Given the description of an element on the screen output the (x, y) to click on. 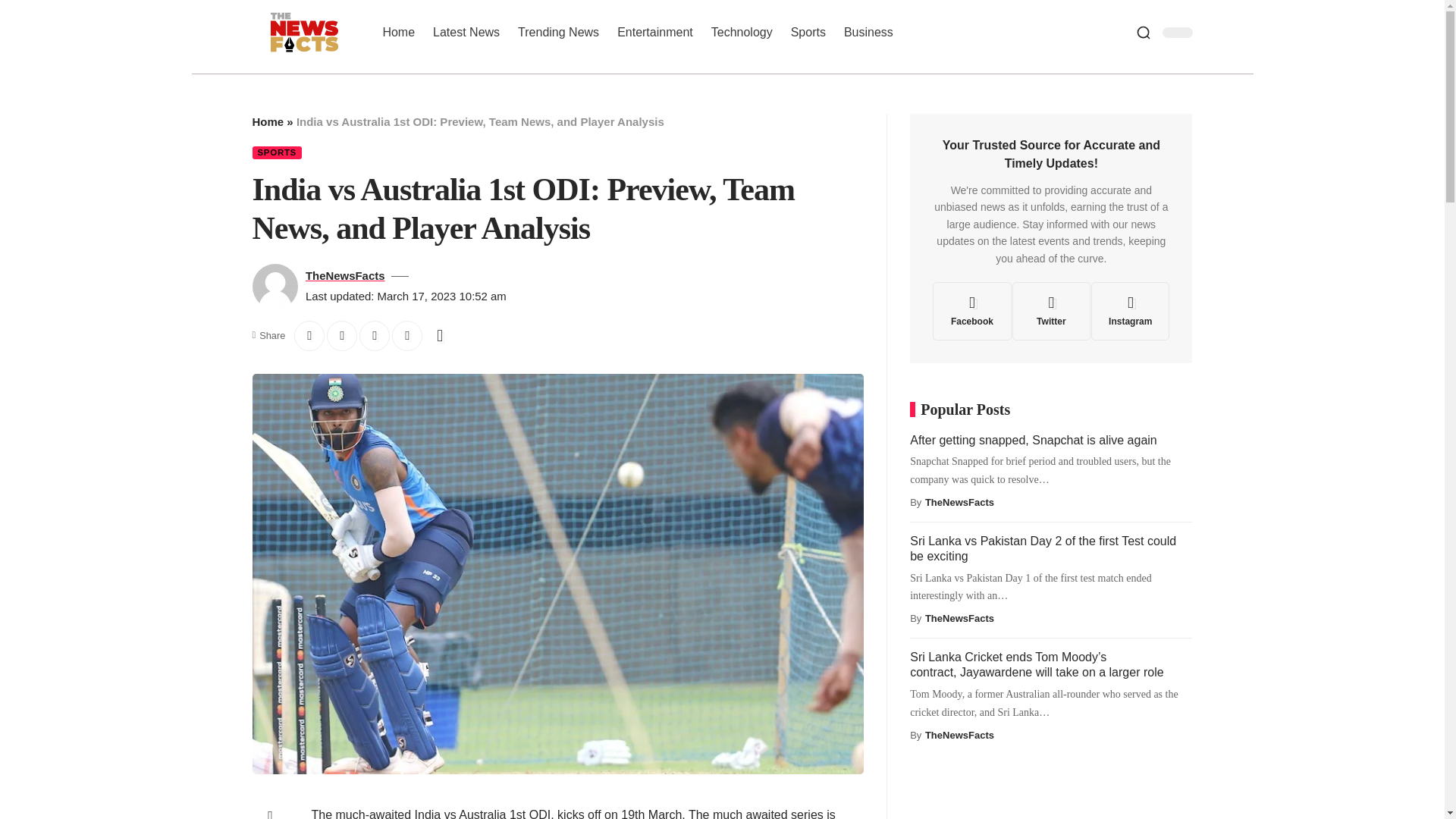
Sports (807, 31)
Home (267, 121)
Technology (741, 31)
Trending News (558, 31)
Latest News (465, 31)
Business (868, 31)
SPORTS (276, 151)
Home (397, 31)
Entertainment (654, 31)
TheNewsFacts (345, 275)
